Given the description of an element on the screen output the (x, y) to click on. 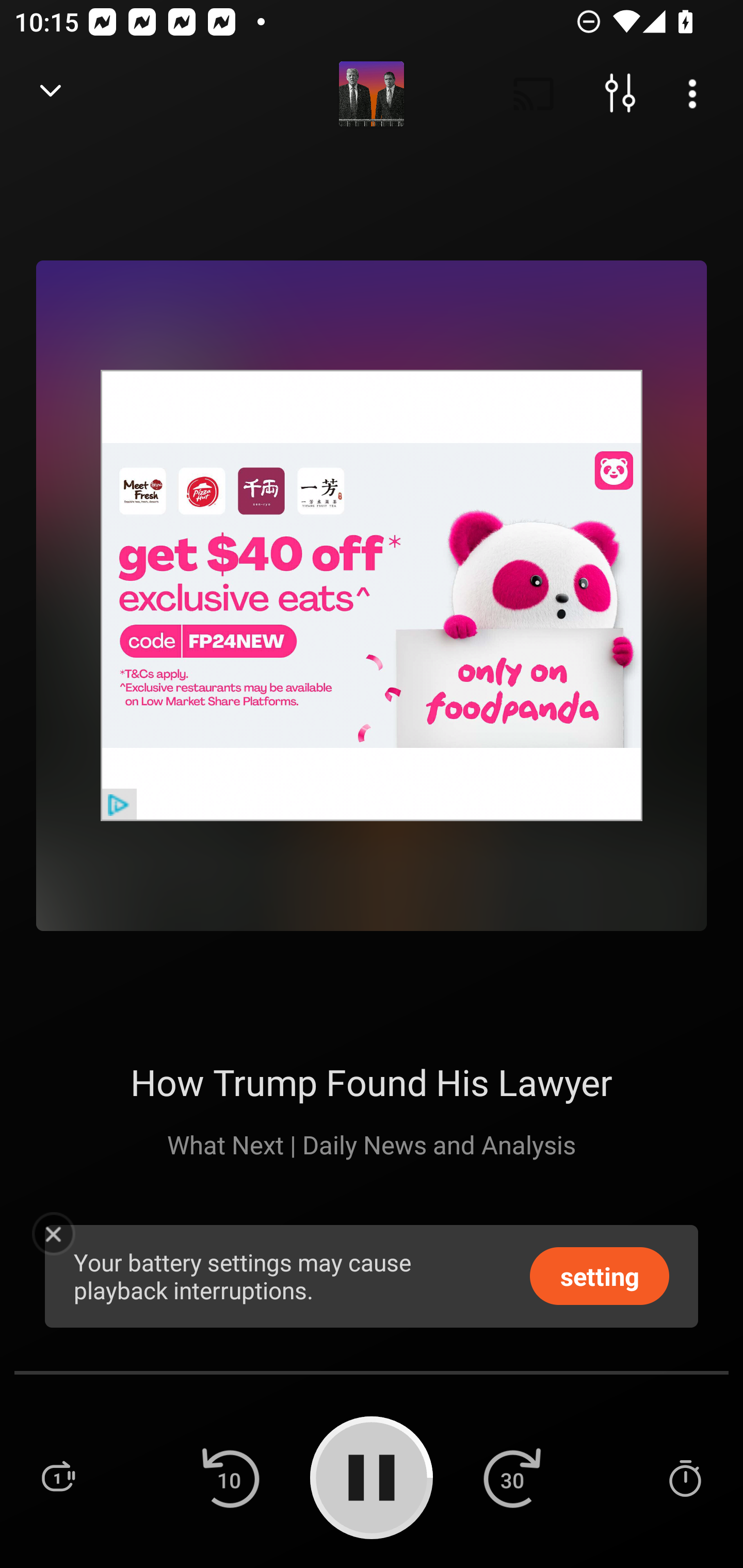
 Back (50, 94)
d32e7c95572b20c72c16 (371, 595)
How Trump Found His Lawyer (370, 1081)
What Next | Daily News and Analysis (371, 1144)
setting (599, 1275)
 Playlist (57, 1477)
Sleep Timer  (684, 1477)
